Given the description of an element on the screen output the (x, y) to click on. 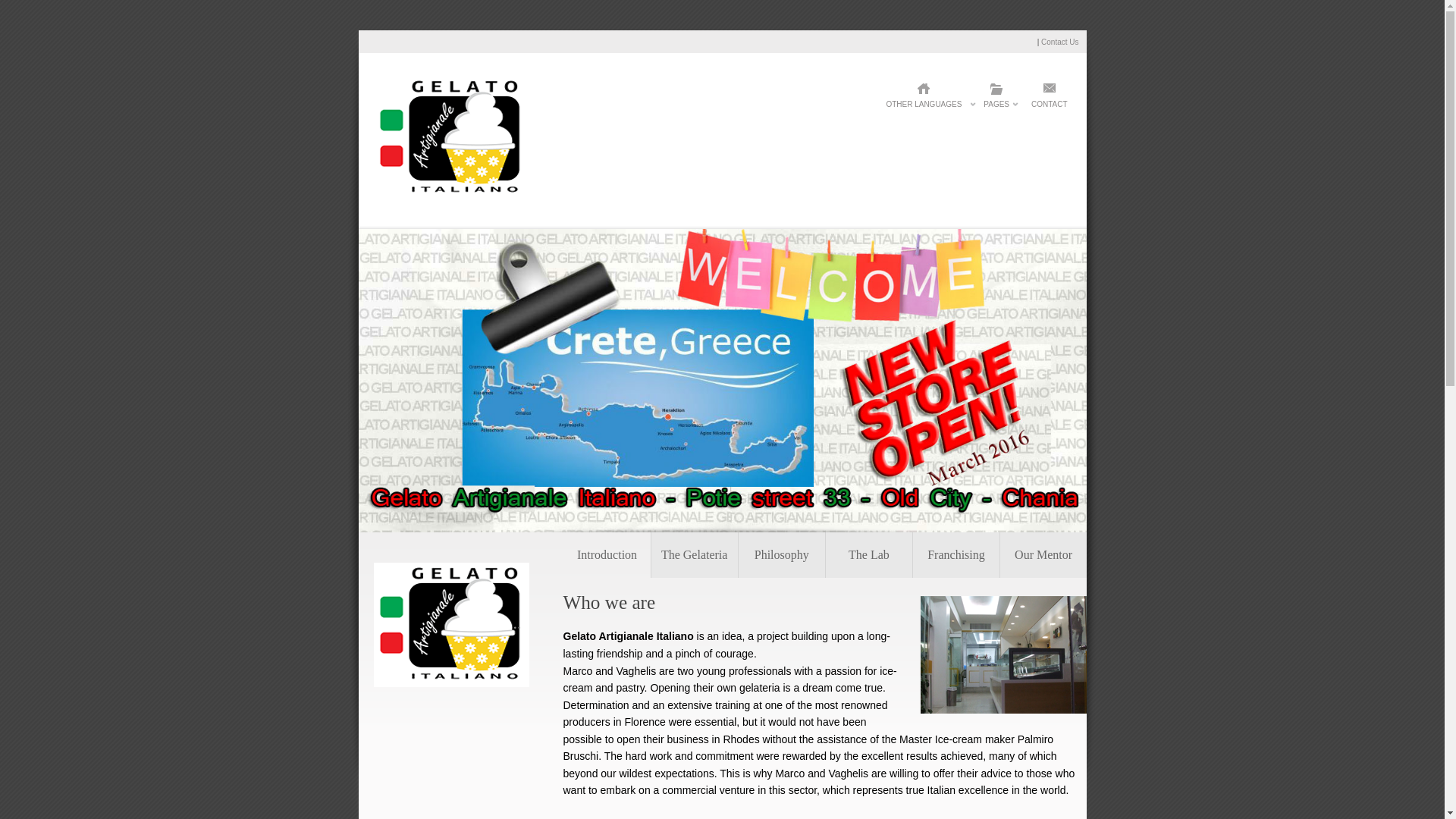
Franchising (955, 555)
Web Design (607, 555)
Diverso (450, 196)
Our Mentor (1043, 555)
Philosophy (781, 555)
Marketing (1043, 555)
Contact Us (1059, 41)
The Gelateria (694, 555)
Philosophy (781, 555)
The Lab (868, 555)
